Given the description of an element on the screen output the (x, y) to click on. 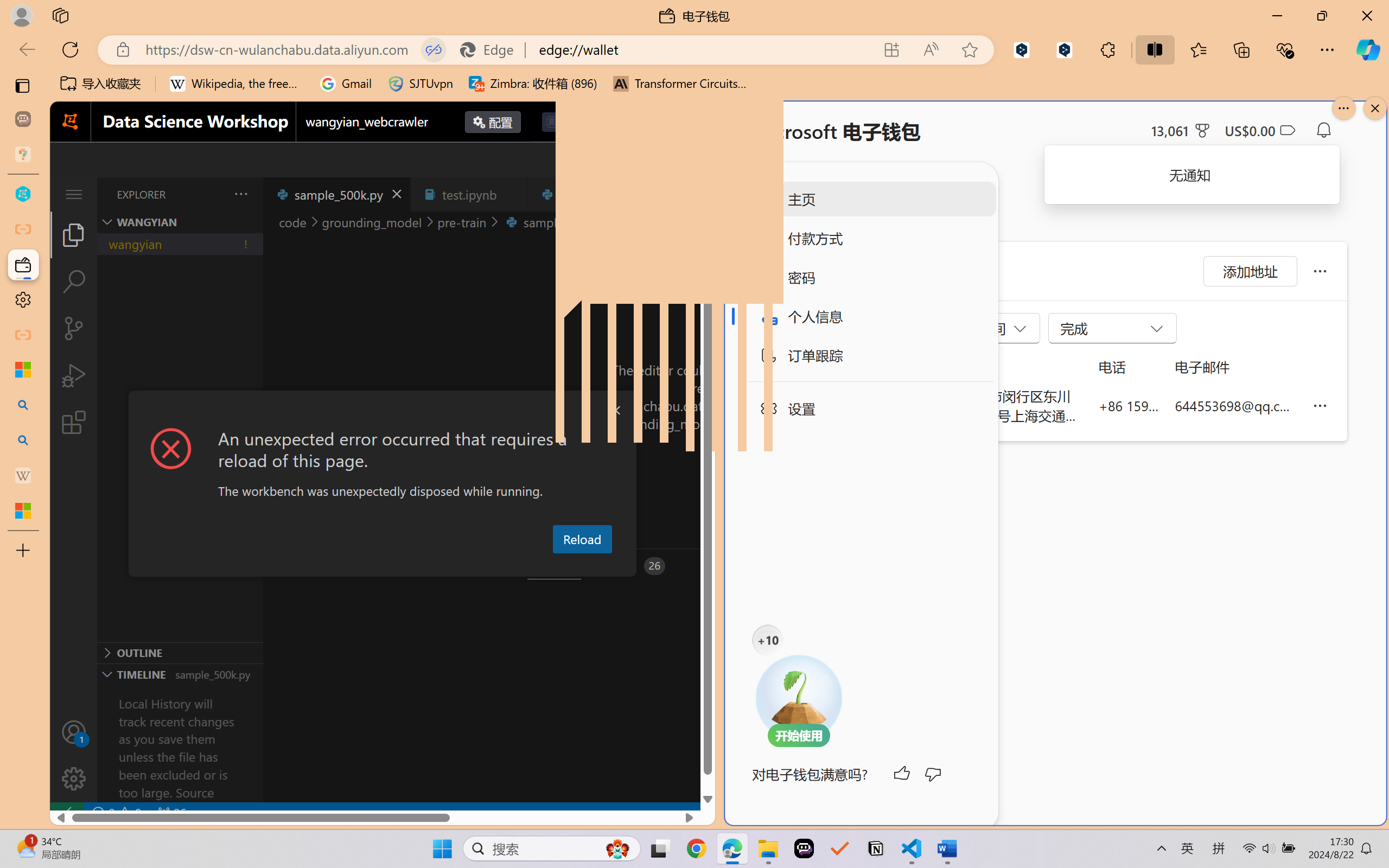
Go Forward (Alt+RightArrow) (598, 159)
Microsoft security help and learning (22, 369)
wangyian_dsw - DSW (22, 194)
Gmail (345, 83)
json2jsonl.py (593, 194)
Application Menu (73, 194)
